Given the description of an element on the screen output the (x, y) to click on. 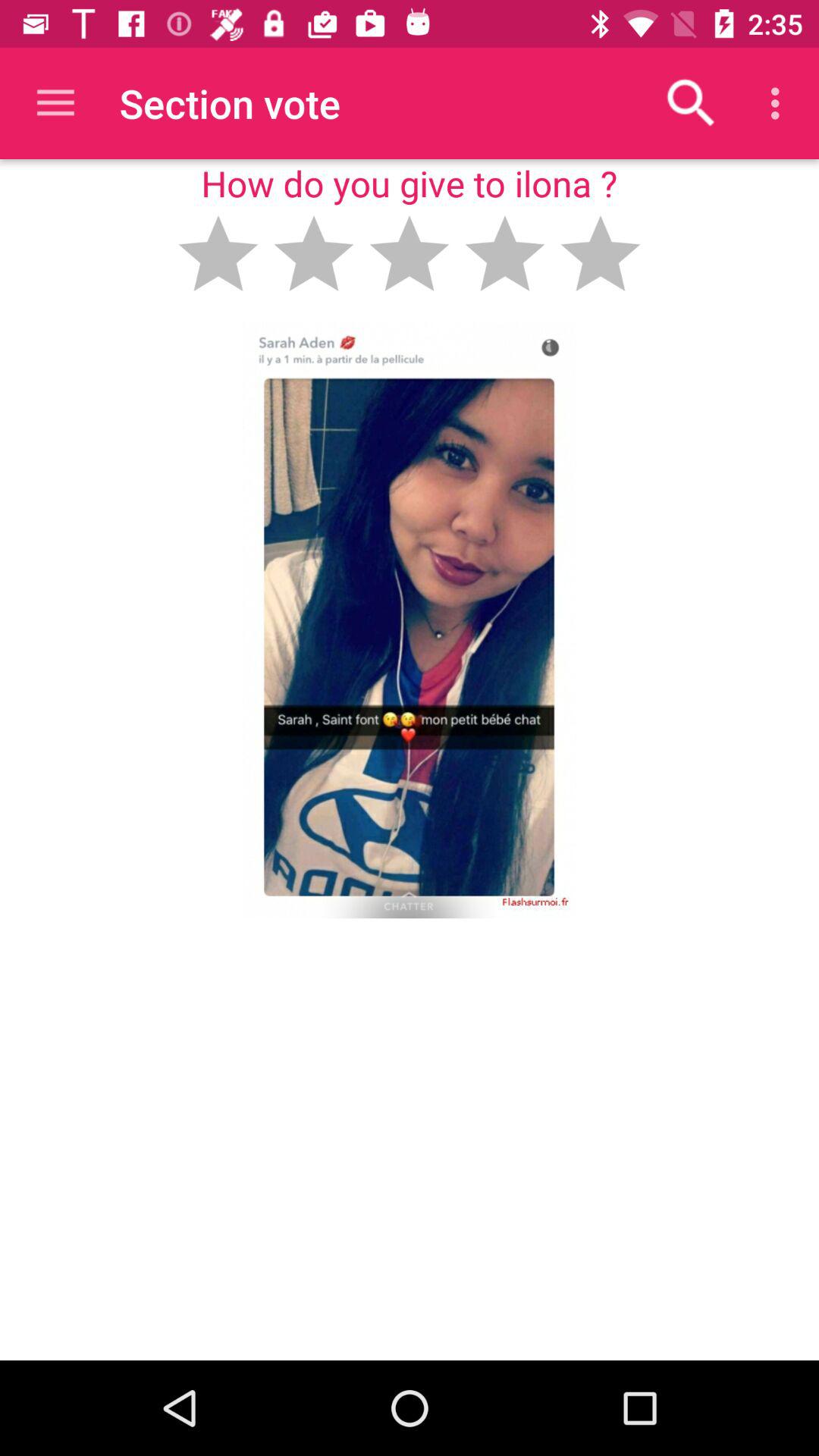
launch the item to the right of the how do you (691, 103)
